Given the description of an element on the screen output the (x, y) to click on. 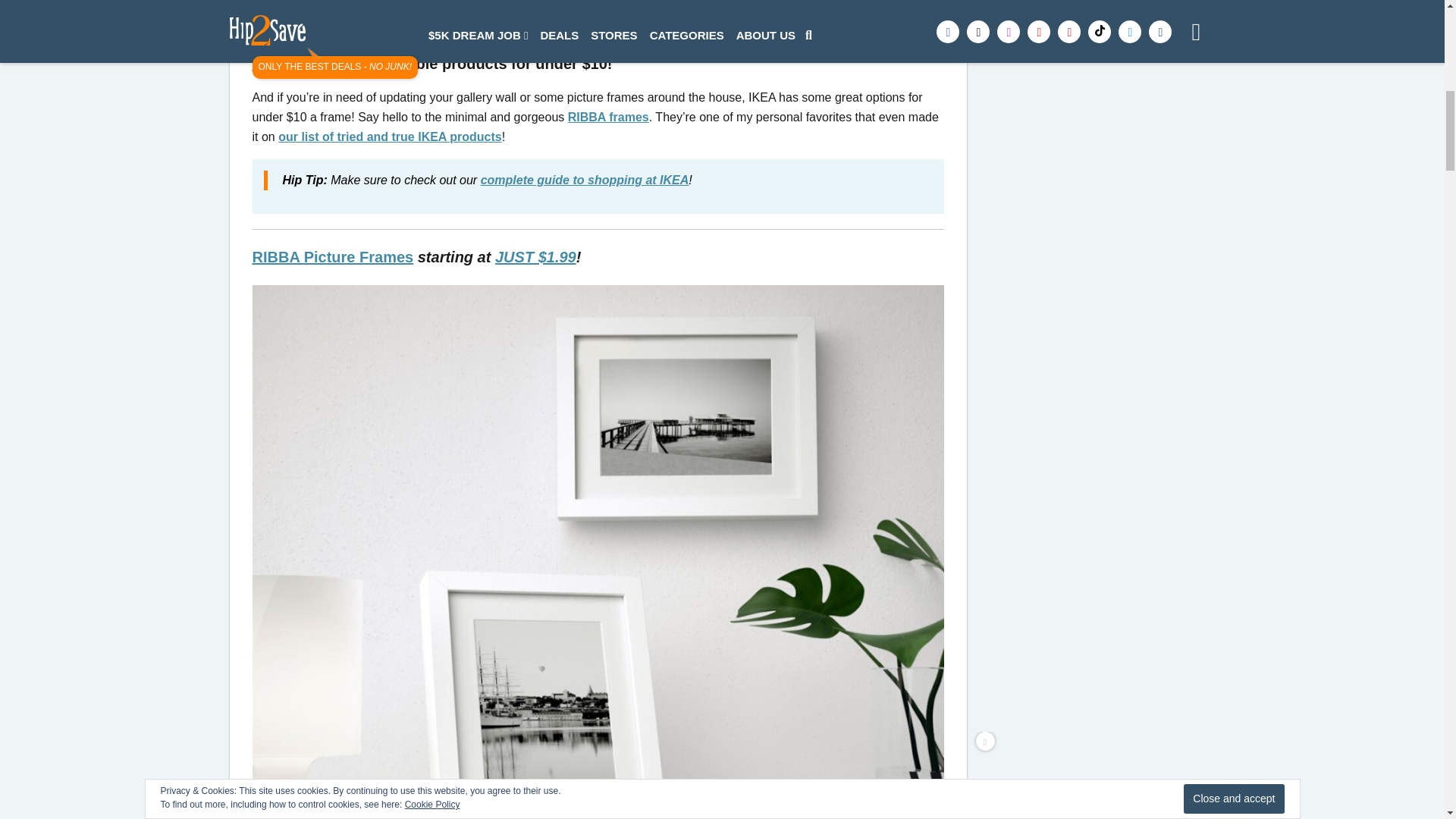
RIBBA frames (608, 116)
complete guide to shopping at IKEA (584, 179)
IKEA (268, 63)
our list of tried and true IKEA products (390, 136)
RIBBA Picture Frames (332, 256)
